Given the description of an element on the screen output the (x, y) to click on. 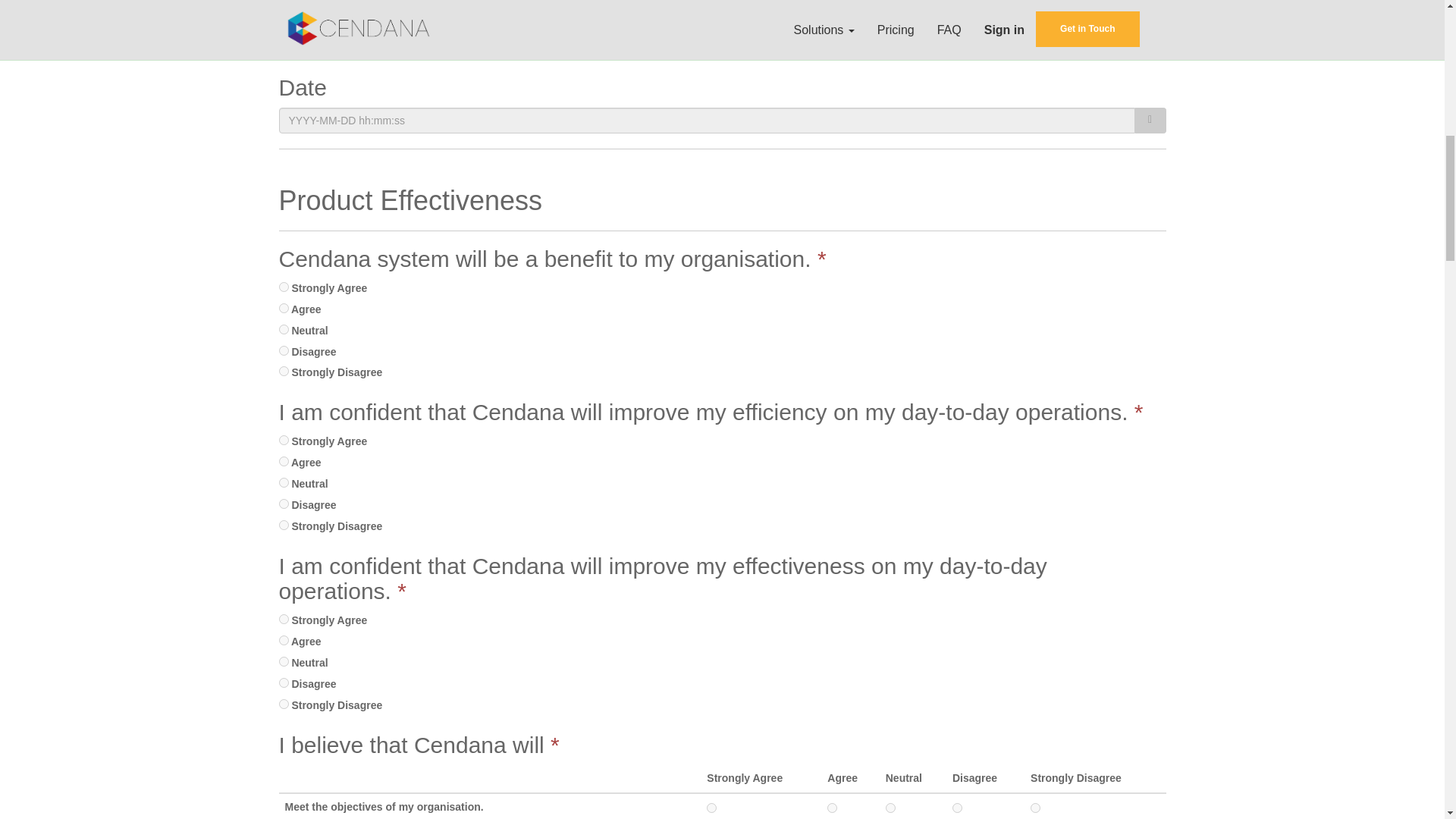
4473 (283, 482)
4475 (283, 439)
4472 (283, 503)
4467 (283, 350)
4497 (283, 661)
4466 (283, 370)
4478 (890, 808)
4474 (283, 461)
4495 (283, 619)
4471 (283, 524)
